Given the description of an element on the screen output the (x, y) to click on. 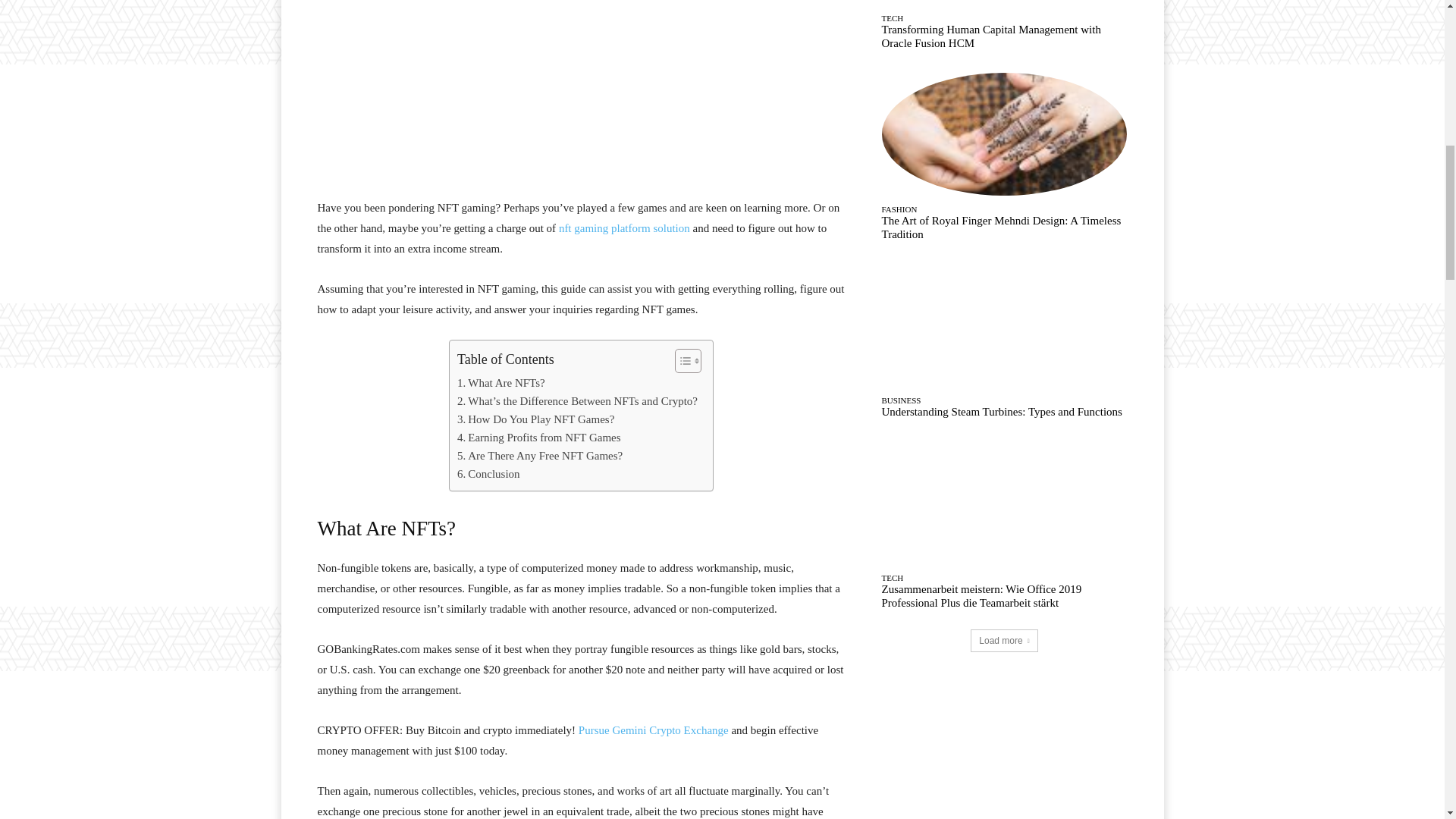
Your Ultimate Guide to NFT Gaming (580, 80)
